Given the description of an element on the screen output the (x, y) to click on. 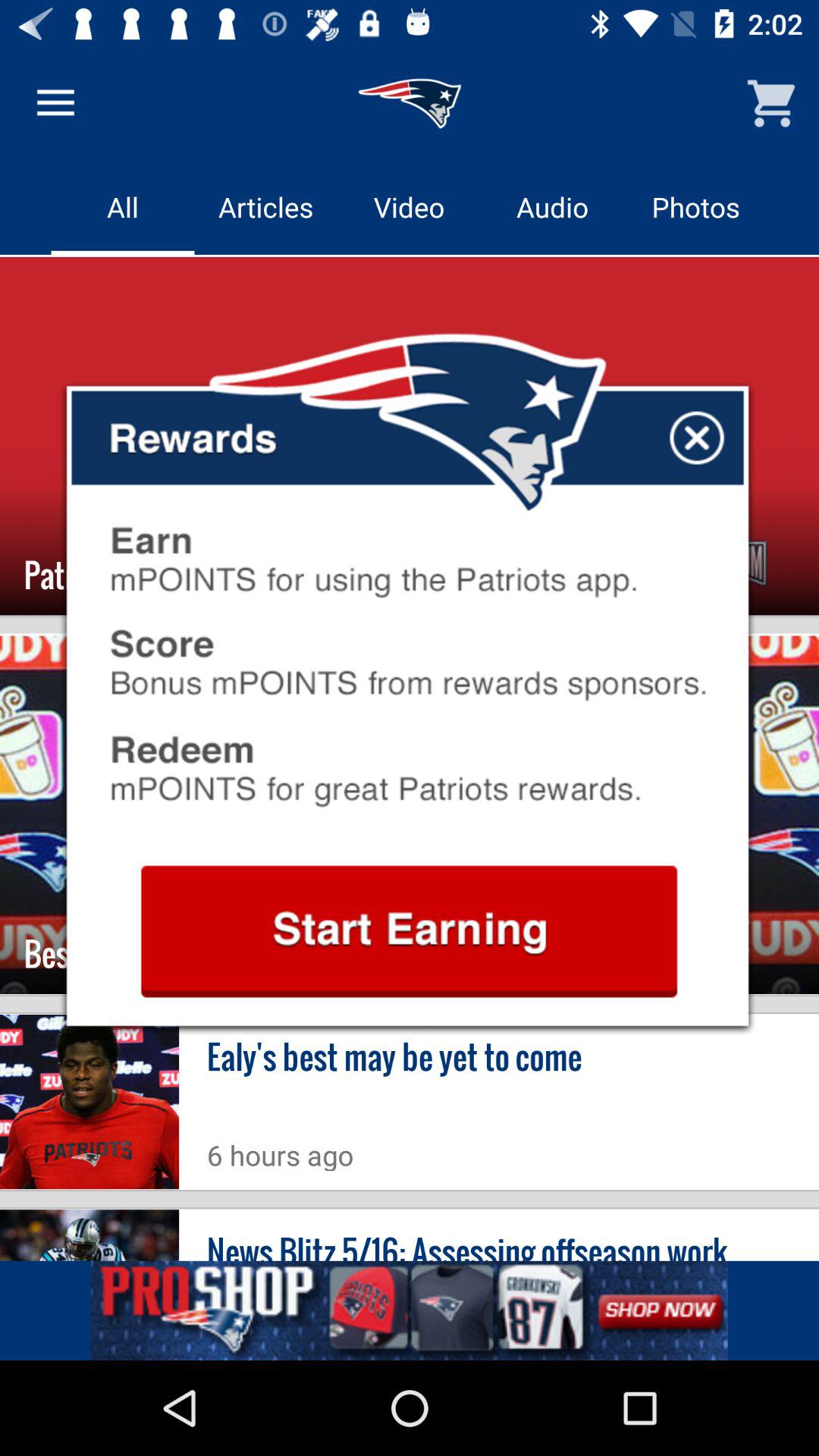
register/open account (408, 931)
